Given the description of an element on the screen output the (x, y) to click on. 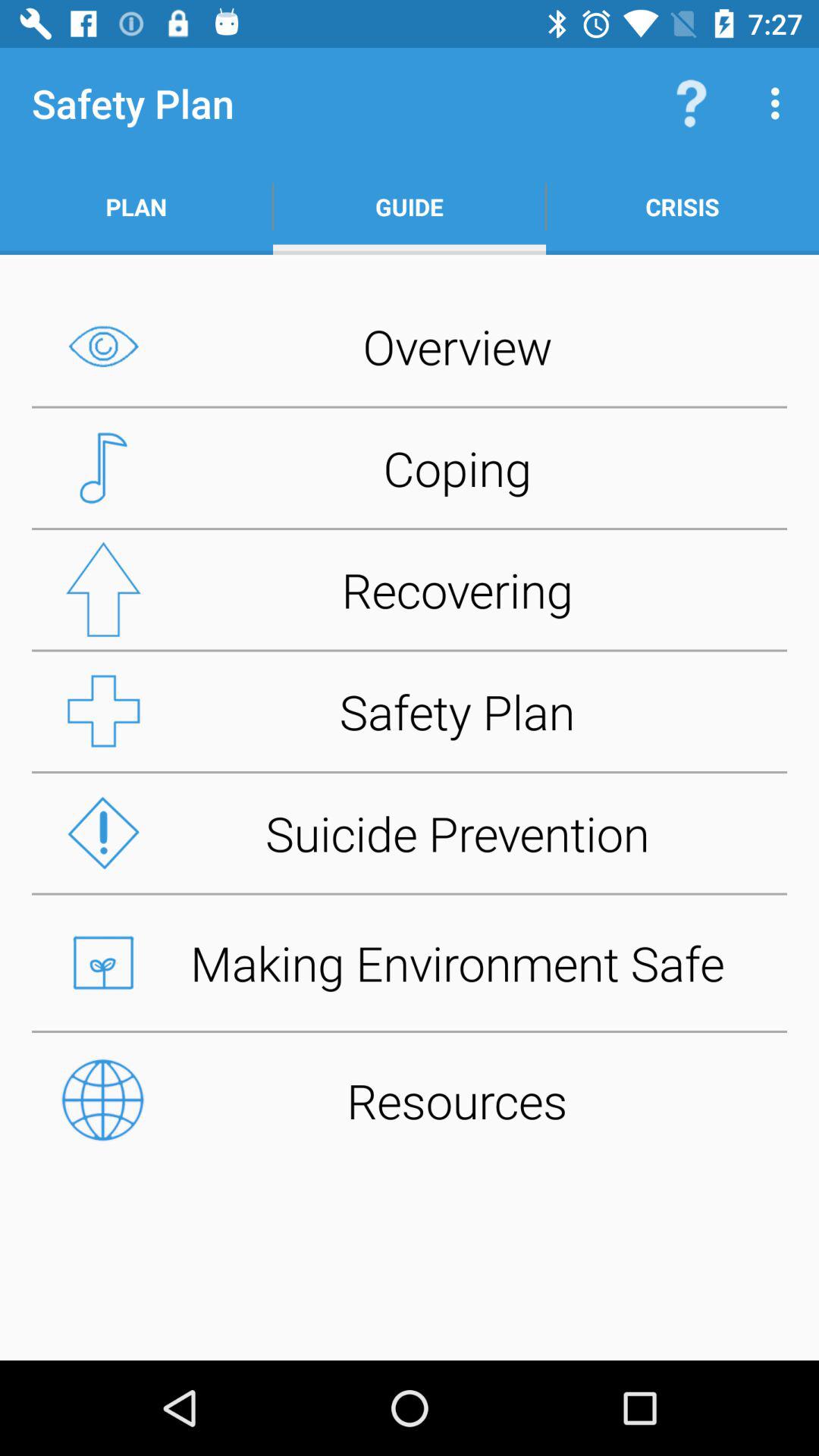
press the icon above the overview icon (409, 206)
